Given the description of an element on the screen output the (x, y) to click on. 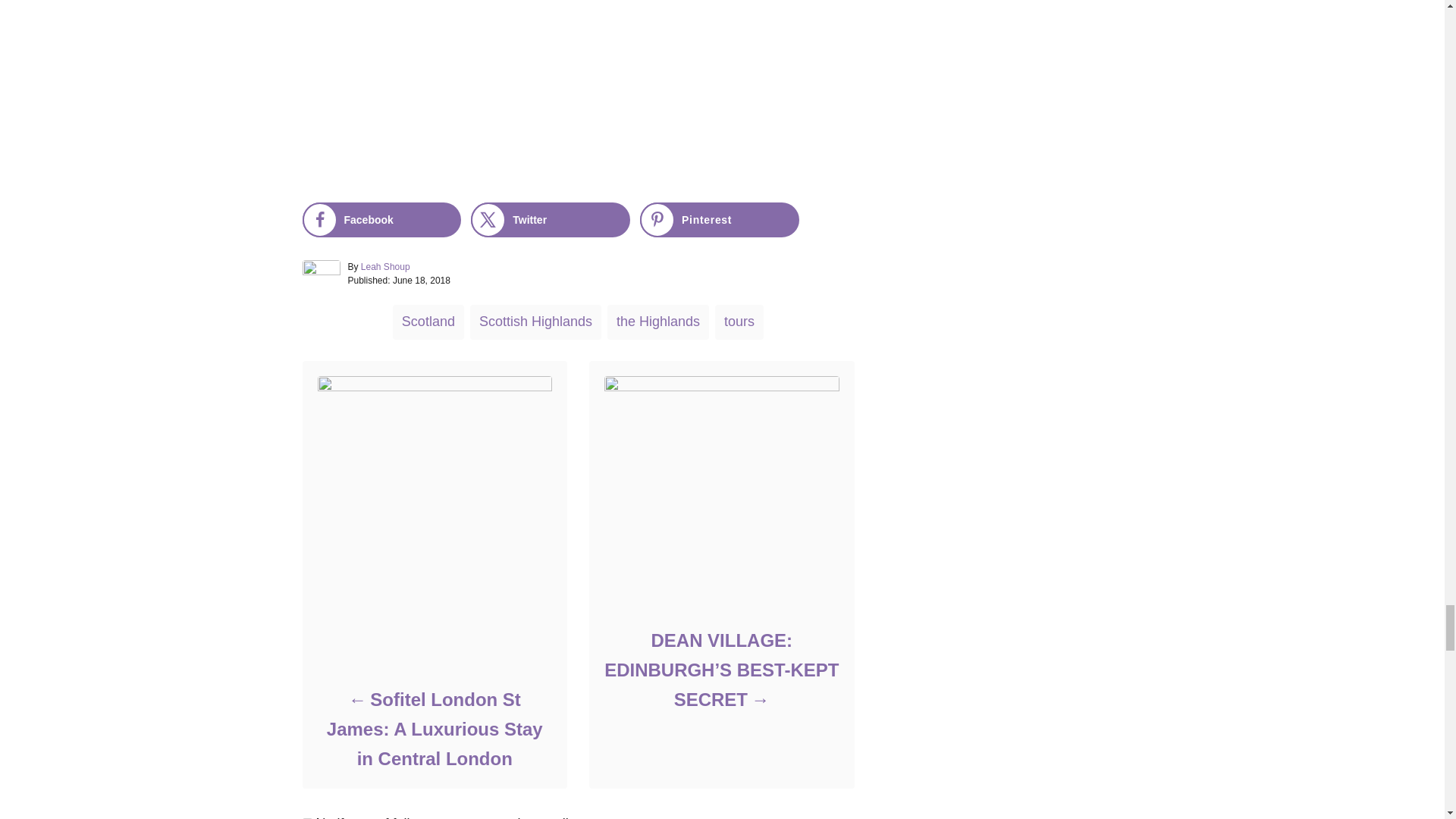
Share on Facebook (381, 219)
Share on X (550, 219)
Save to Pinterest (719, 219)
